Given the description of an element on the screen output the (x, y) to click on. 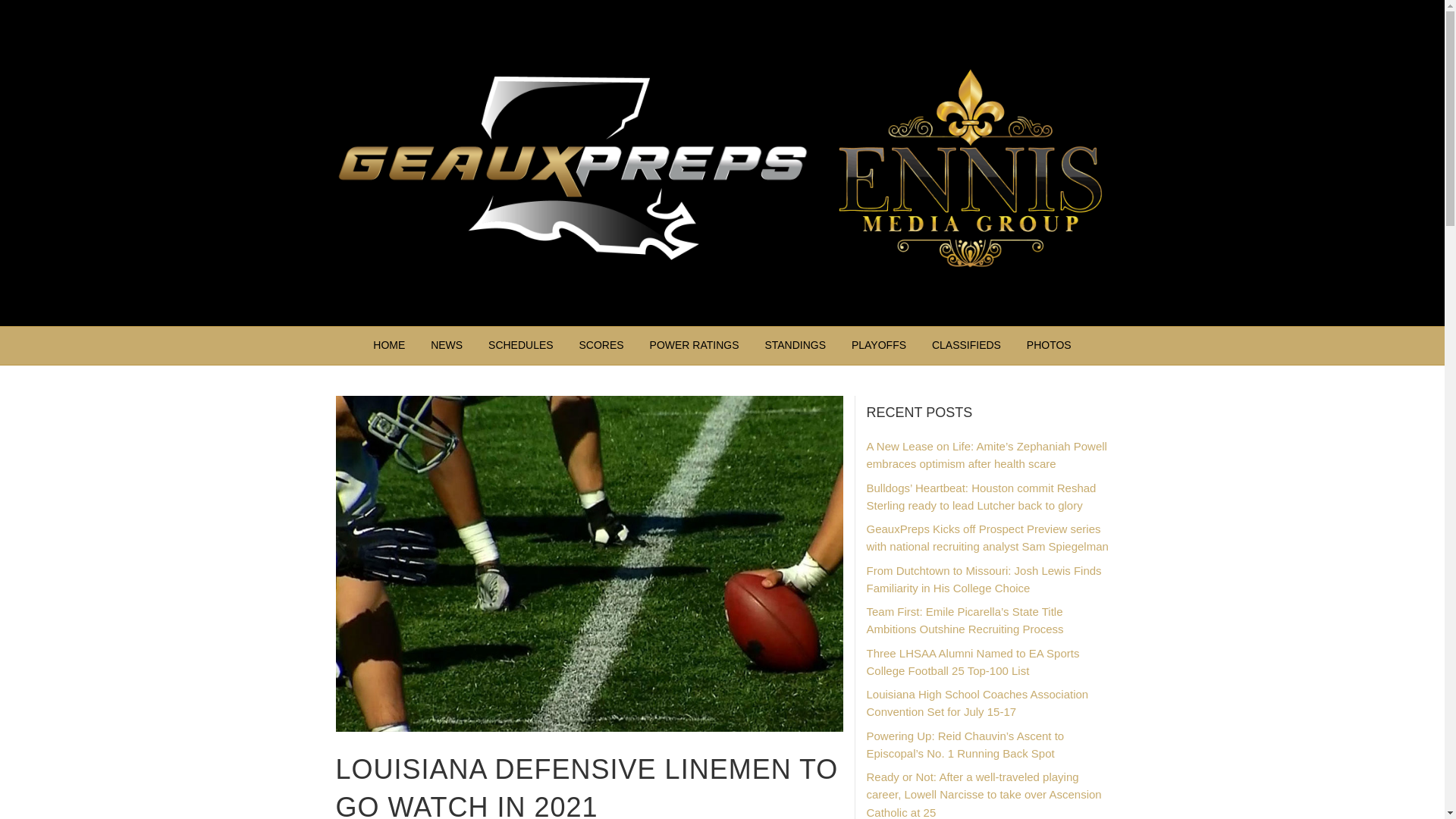
STANDINGS (794, 345)
SCORES (600, 345)
HOME (388, 345)
PHOTOS (1048, 345)
POWER RATINGS (695, 345)
SCHEDULES (520, 345)
NEWS (446, 345)
CLASSIFIEDS (965, 345)
PLAYOFFS (878, 345)
